Given the description of an element on the screen output the (x, y) to click on. 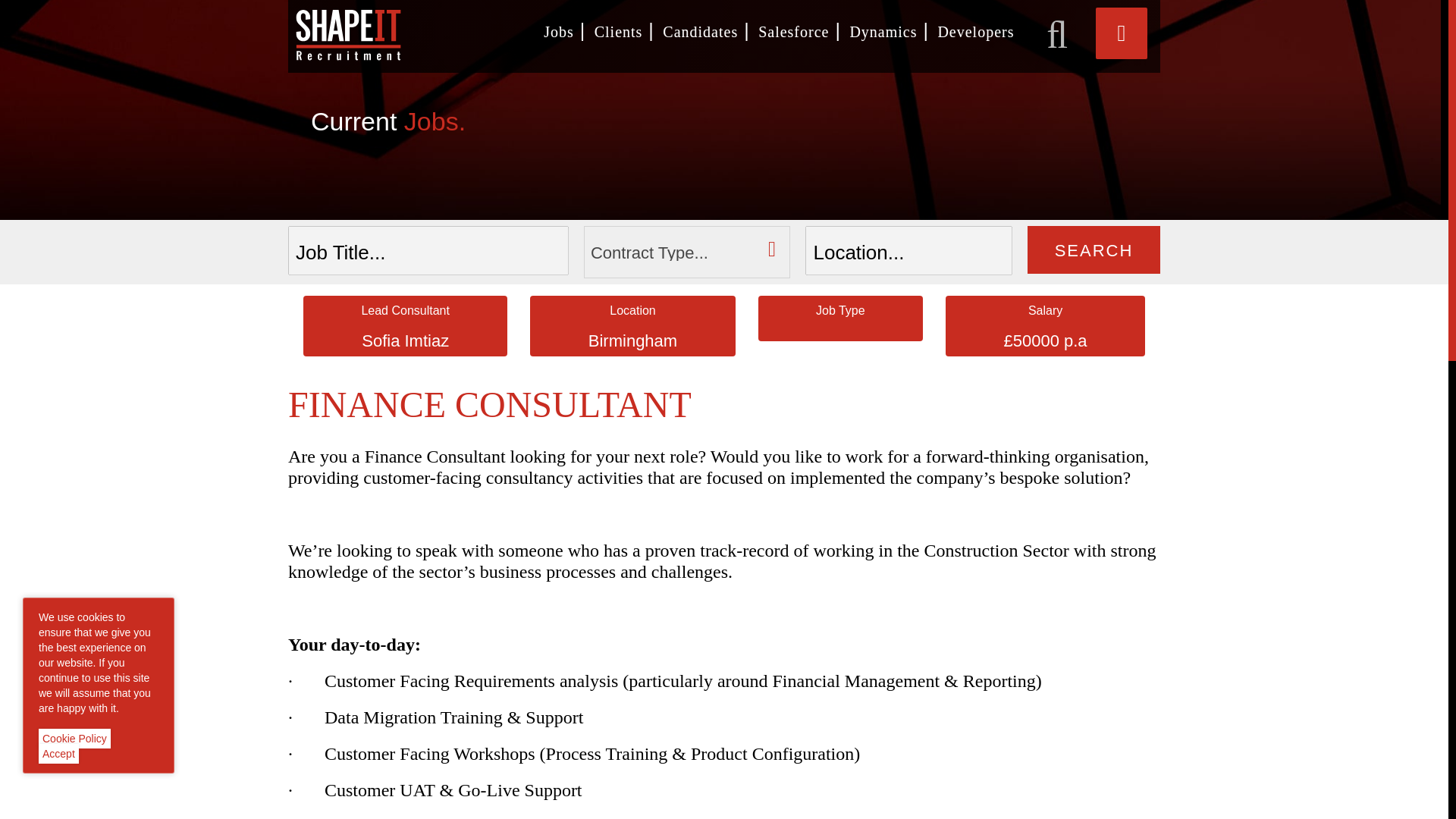
Candidates (700, 31)
Jobs (558, 31)
Cookie Policy (74, 738)
Developers (975, 31)
Salesforce (793, 31)
Accept (58, 753)
Dynamics (882, 31)
Clients (618, 31)
SEARCH (1093, 249)
